Given the description of an element on the screen output the (x, y) to click on. 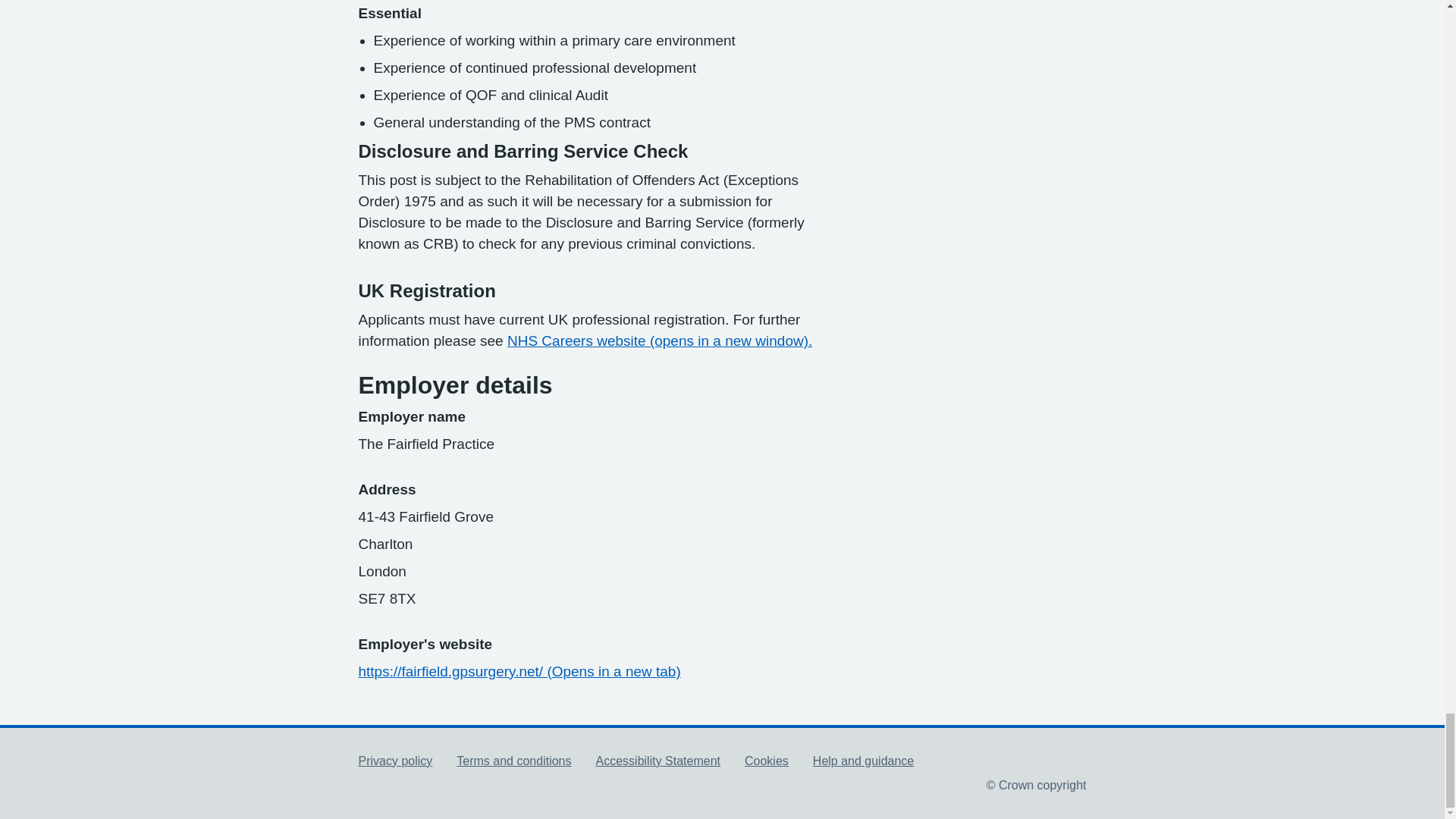
Help and guidance (863, 760)
Privacy policy (395, 760)
Accessibility Statement (657, 760)
Terms and conditions (513, 760)
Cookies (766, 760)
